Given the description of an element on the screen output the (x, y) to click on. 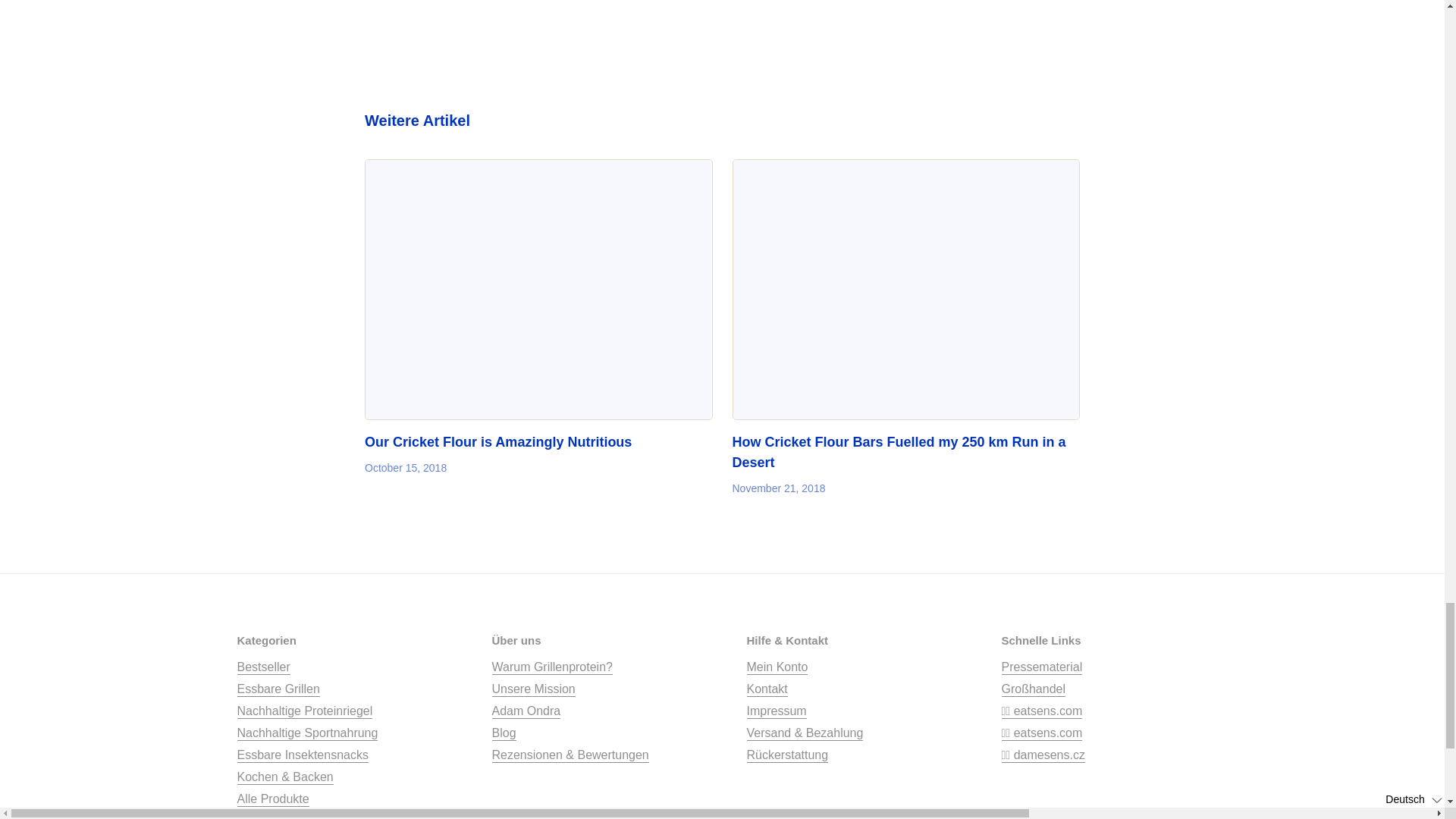
Our Cricket Flour is Amazingly Nutritious (539, 289)
Our Cricket Flour is Amazingly Nutritious (498, 441)
How Cricket Flour Bars Fuelled my 250 km Run in a Desert (906, 289)
How Cricket Flour Bars Fuelled my 250 km Run in a Desert (898, 452)
